Given the description of an element on the screen output the (x, y) to click on. 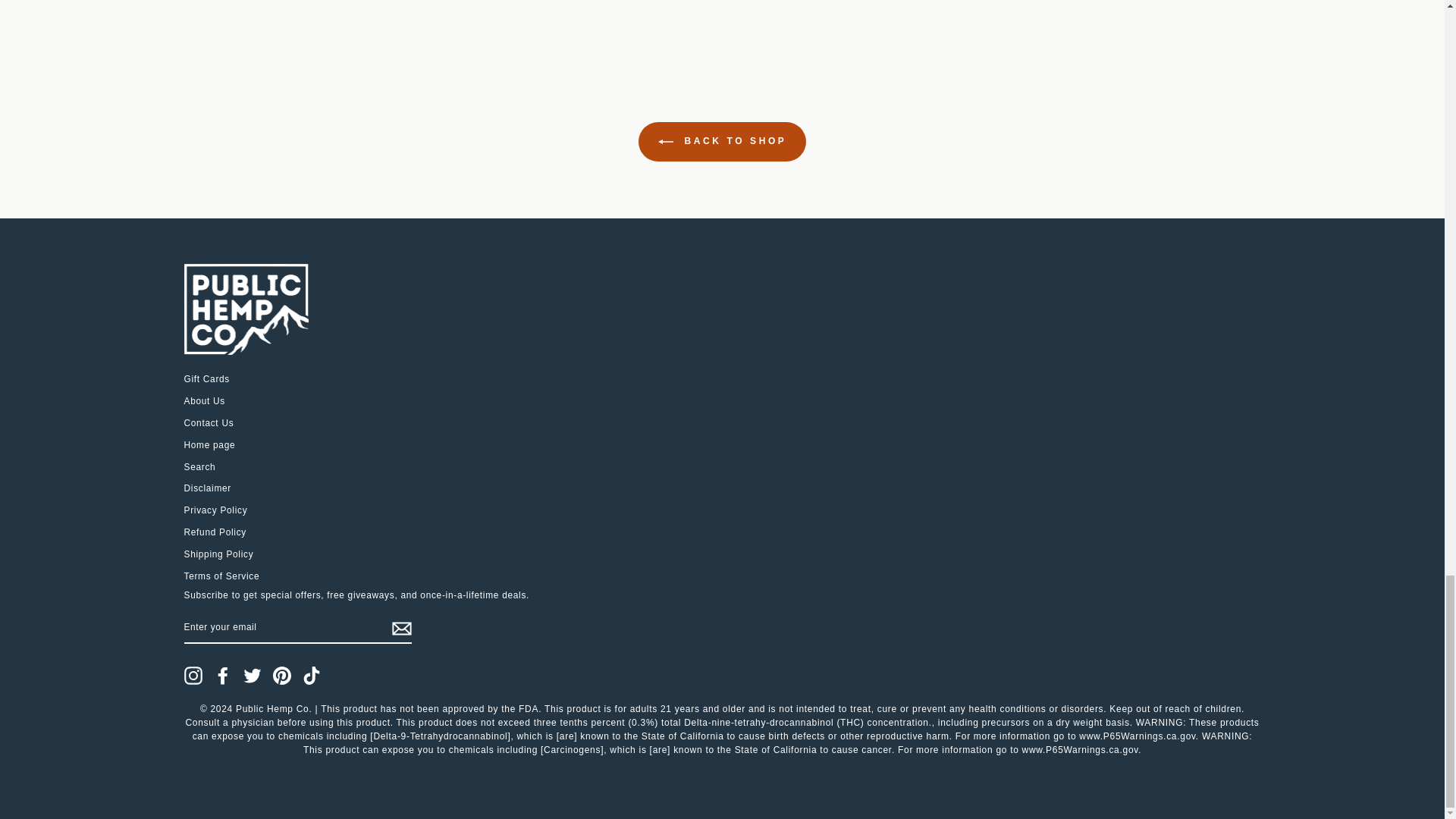
Public Hemp Co. on TikTok (310, 675)
Public Hemp Co. on Instagram (192, 675)
Public Hemp Co. on Pinterest (282, 675)
Public Hemp Co. on Facebook (222, 675)
Public Hemp Co. on Twitter (251, 675)
